Given the description of an element on the screen output the (x, y) to click on. 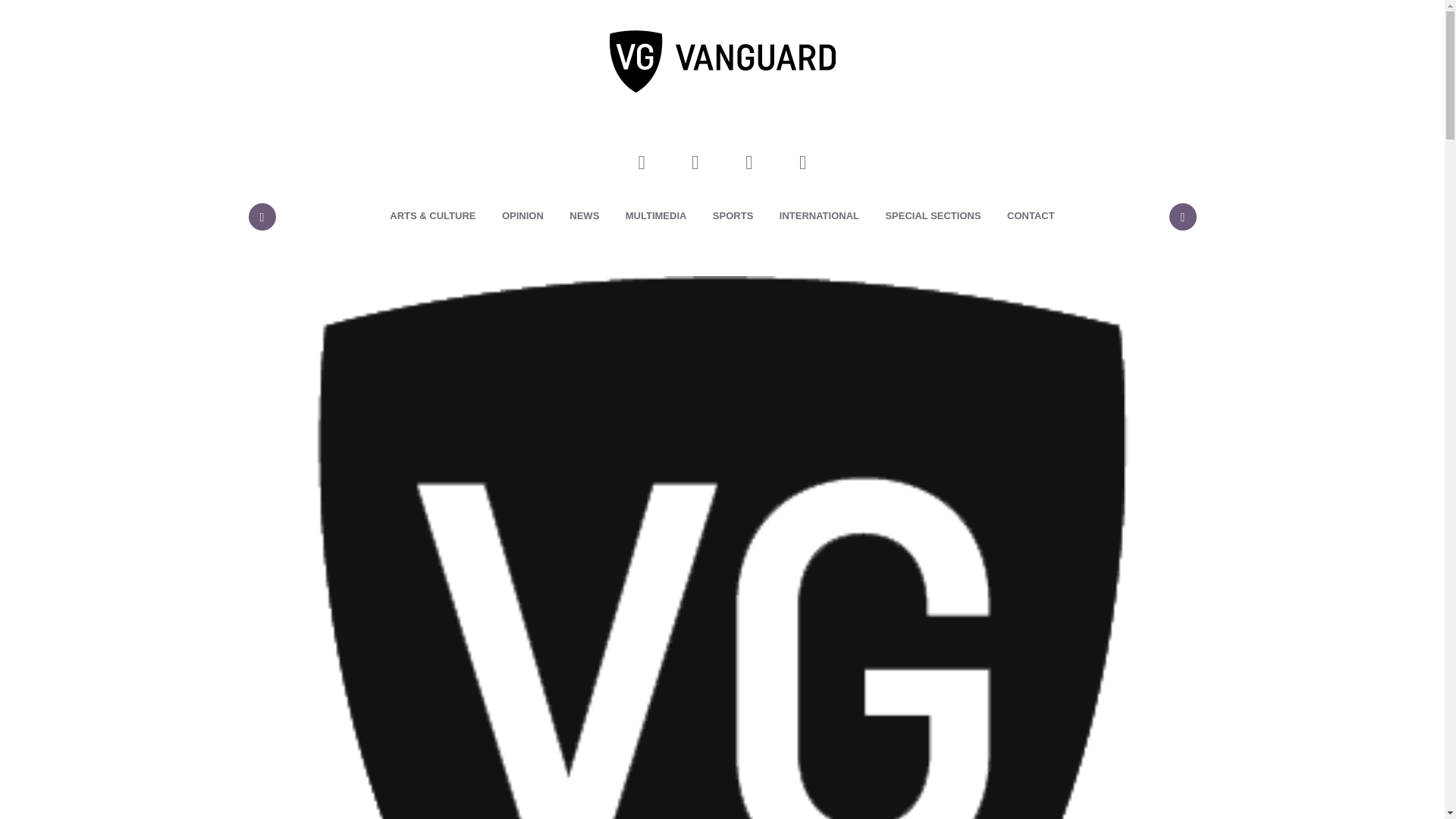
CONTACT (1030, 215)
MULTIMEDIA (656, 215)
SPECIAL SECTIONS (932, 215)
INTERNATIONAL (819, 215)
SPORTS (732, 215)
NEWS (583, 215)
OPINION (522, 215)
